Given the description of an element on the screen output the (x, y) to click on. 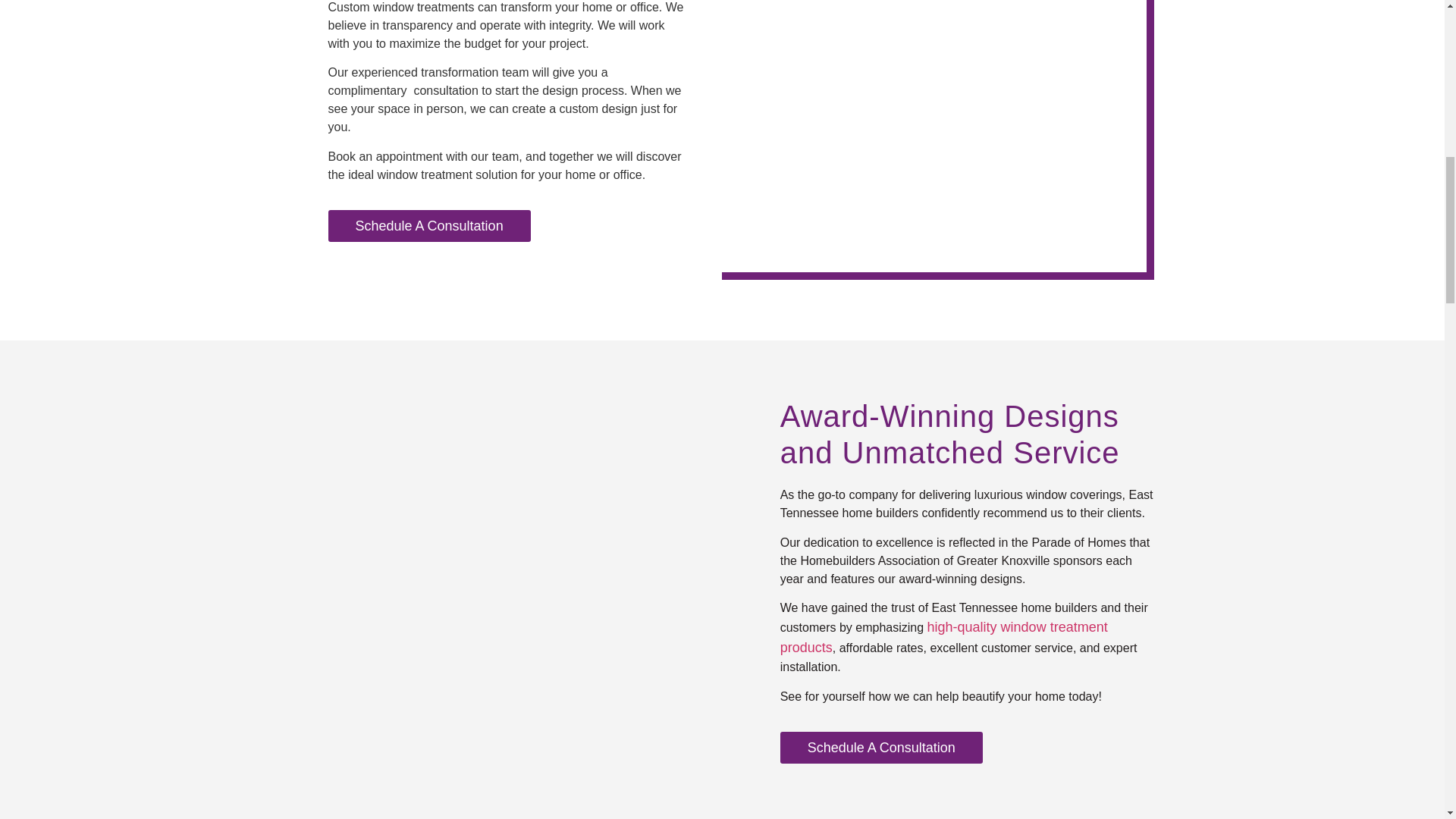
High-quality window treatment products in Knoxville TN (944, 637)
